Given the description of an element on the screen output the (x, y) to click on. 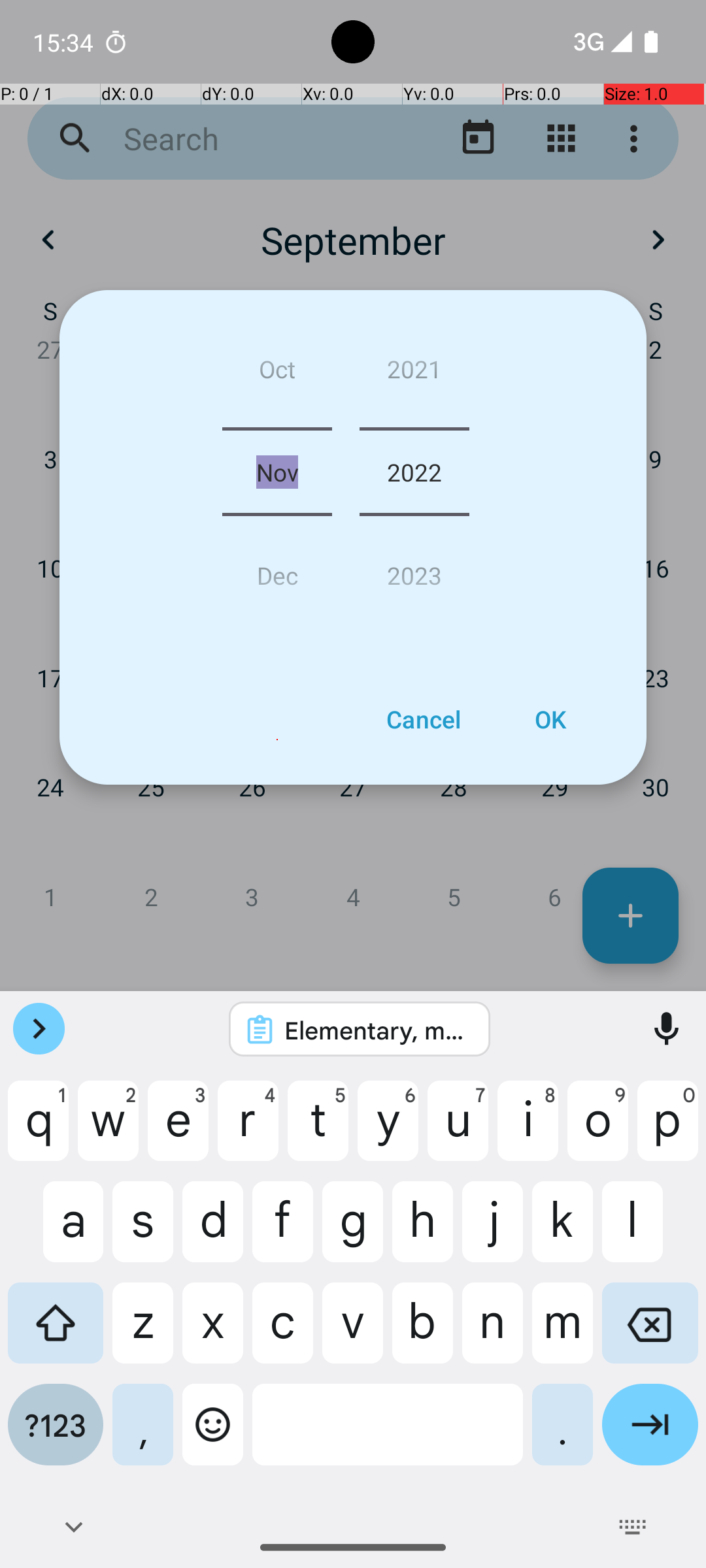
Elementary, my dear Watson. Element type: android.widget.TextView (376, 1029)
